Given the description of an element on the screen output the (x, y) to click on. 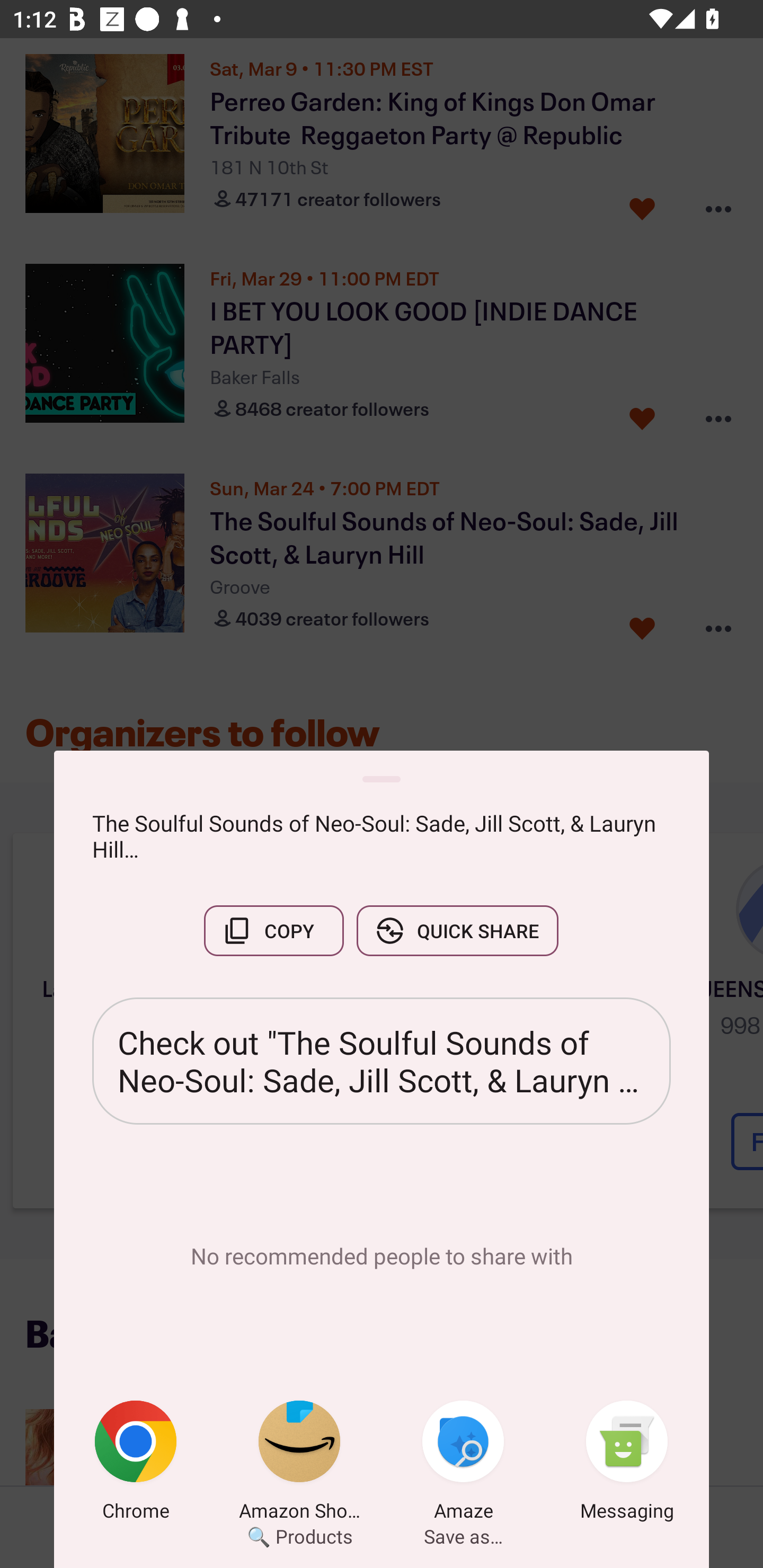
COPY (273, 930)
QUICK SHARE (457, 930)
Chrome (135, 1463)
Amazon Shopping 🔍 Products (299, 1463)
Amaze Save as… (463, 1463)
Messaging (626, 1463)
